Given the description of an element on the screen output the (x, y) to click on. 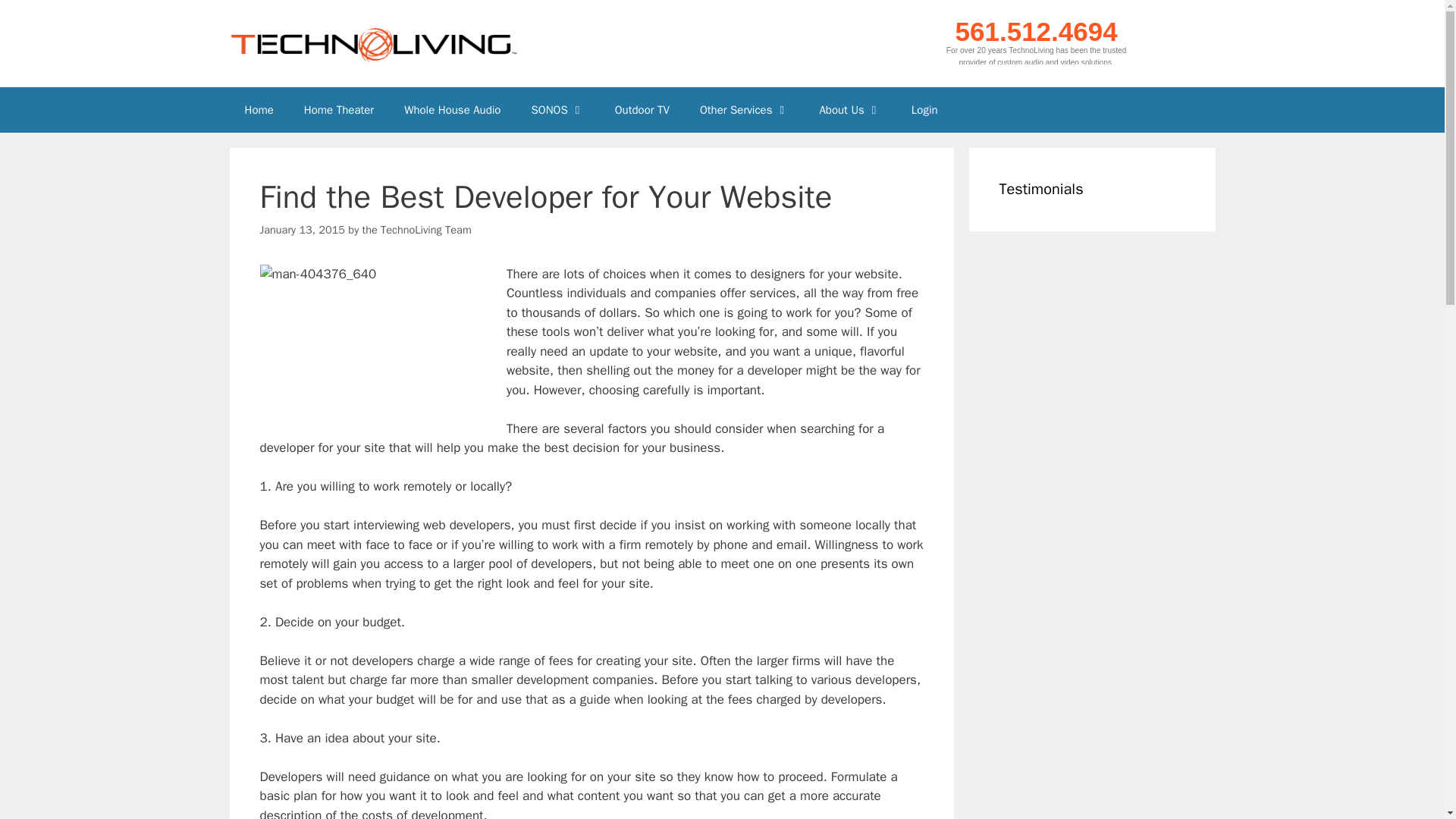
Home Theater (338, 109)
the TechnoLiving Team (416, 229)
Outdoor TV (641, 109)
View all posts by the TechnoLiving Team (416, 229)
Other Services (744, 109)
Whole House Audio (451, 109)
SONOS (556, 109)
About Us (849, 109)
561.512.4694 (1036, 30)
Login (924, 109)
Home (258, 109)
